Given the description of an element on the screen output the (x, y) to click on. 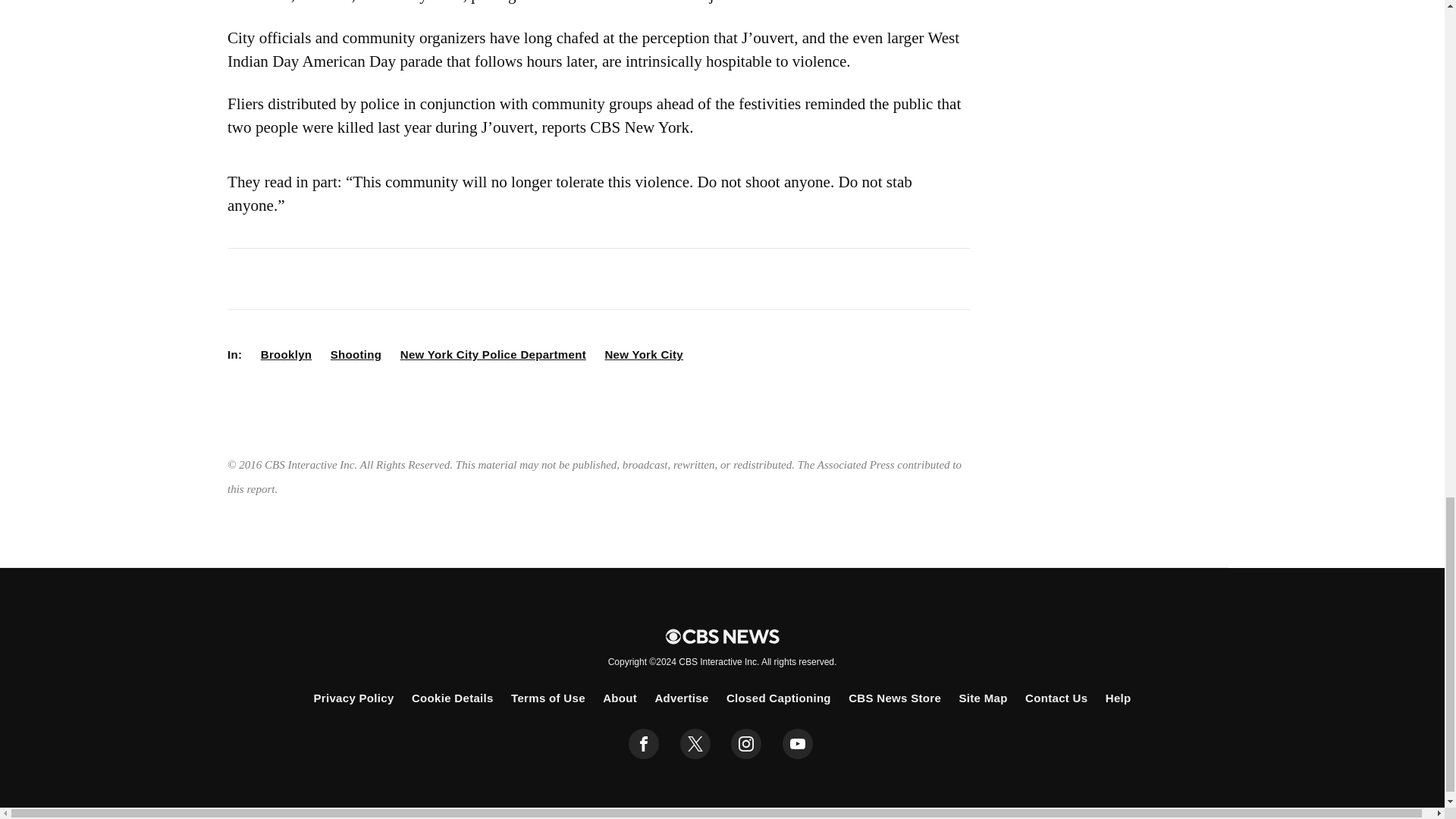
youtube (797, 743)
instagram (745, 743)
twitter (694, 743)
facebook (643, 743)
